Given the description of an element on the screen output the (x, y) to click on. 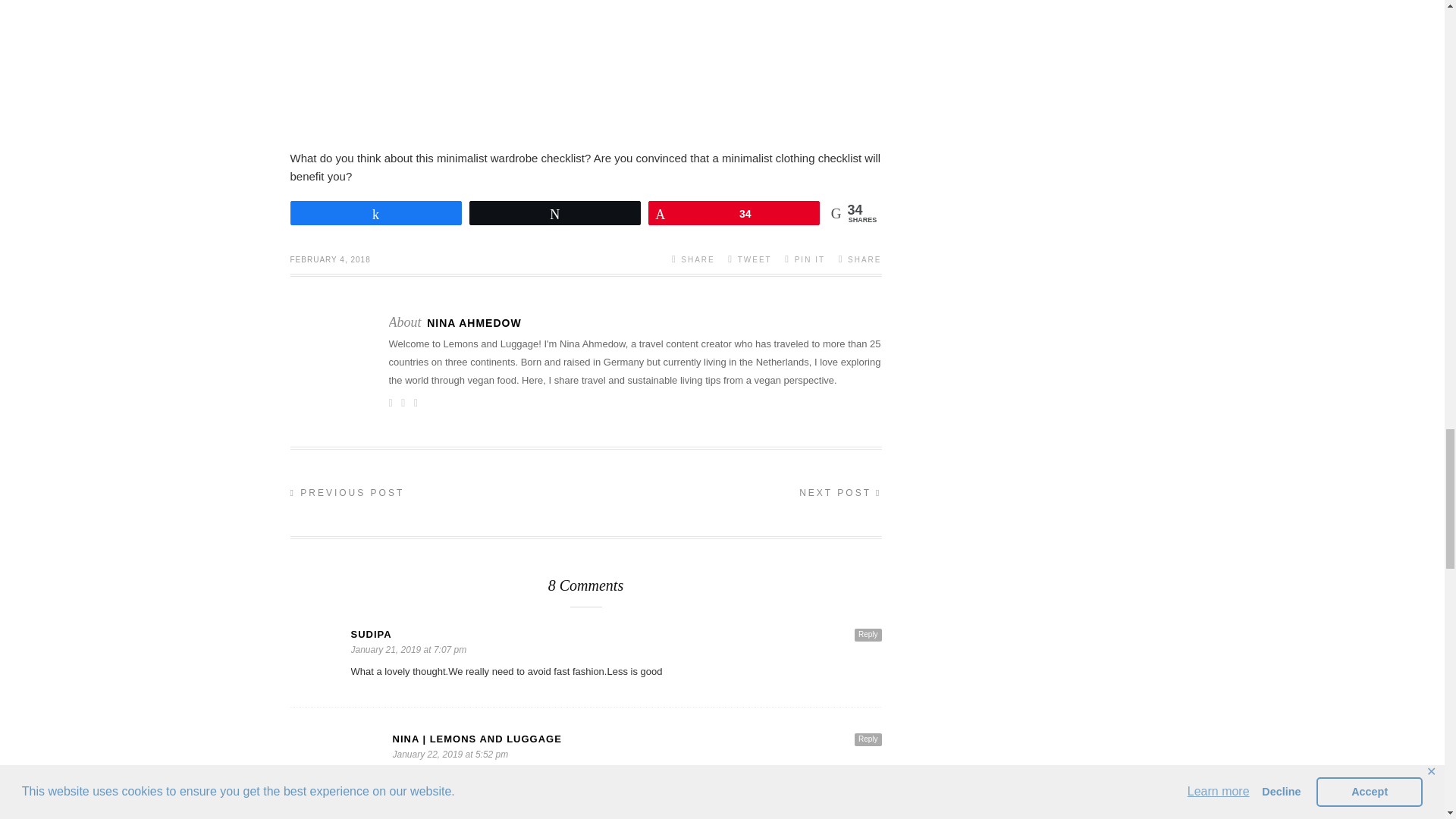
PIN IT (804, 258)
SHARE (692, 258)
Posts by Nina Ahmedow (473, 322)
34 (733, 212)
TWEET (749, 258)
